Given the description of an element on the screen output the (x, y) to click on. 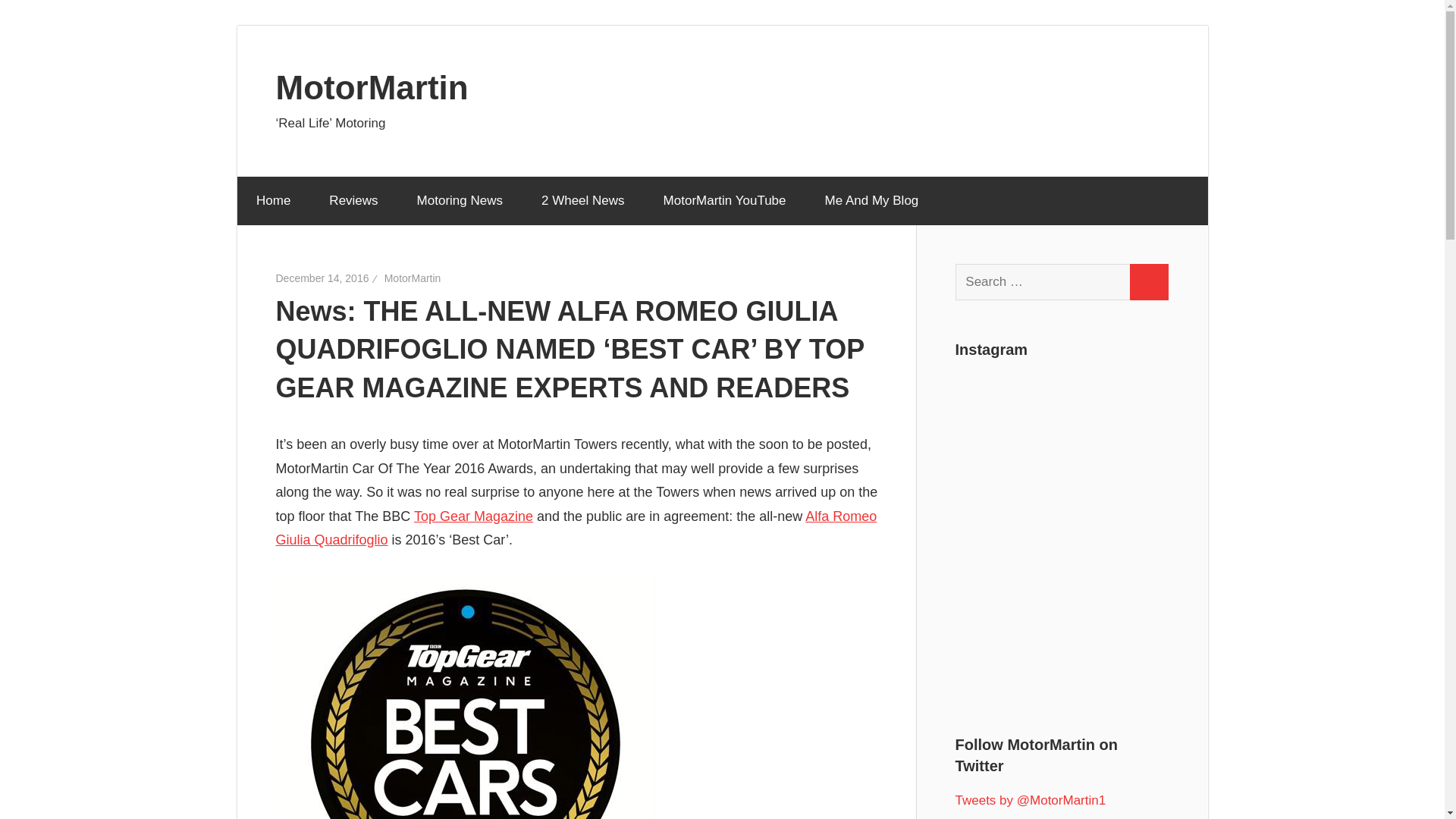
Motoring News (459, 200)
Search (1148, 281)
Search for: (1043, 281)
Me And My Blog (871, 200)
December 14, 2016 (322, 277)
View all posts by MotorMartin (412, 277)
Alfa Romeo Giulia Quadrifoglio (576, 527)
2 Wheel News (582, 200)
MotorMartin (372, 86)
